Given the description of an element on the screen output the (x, y) to click on. 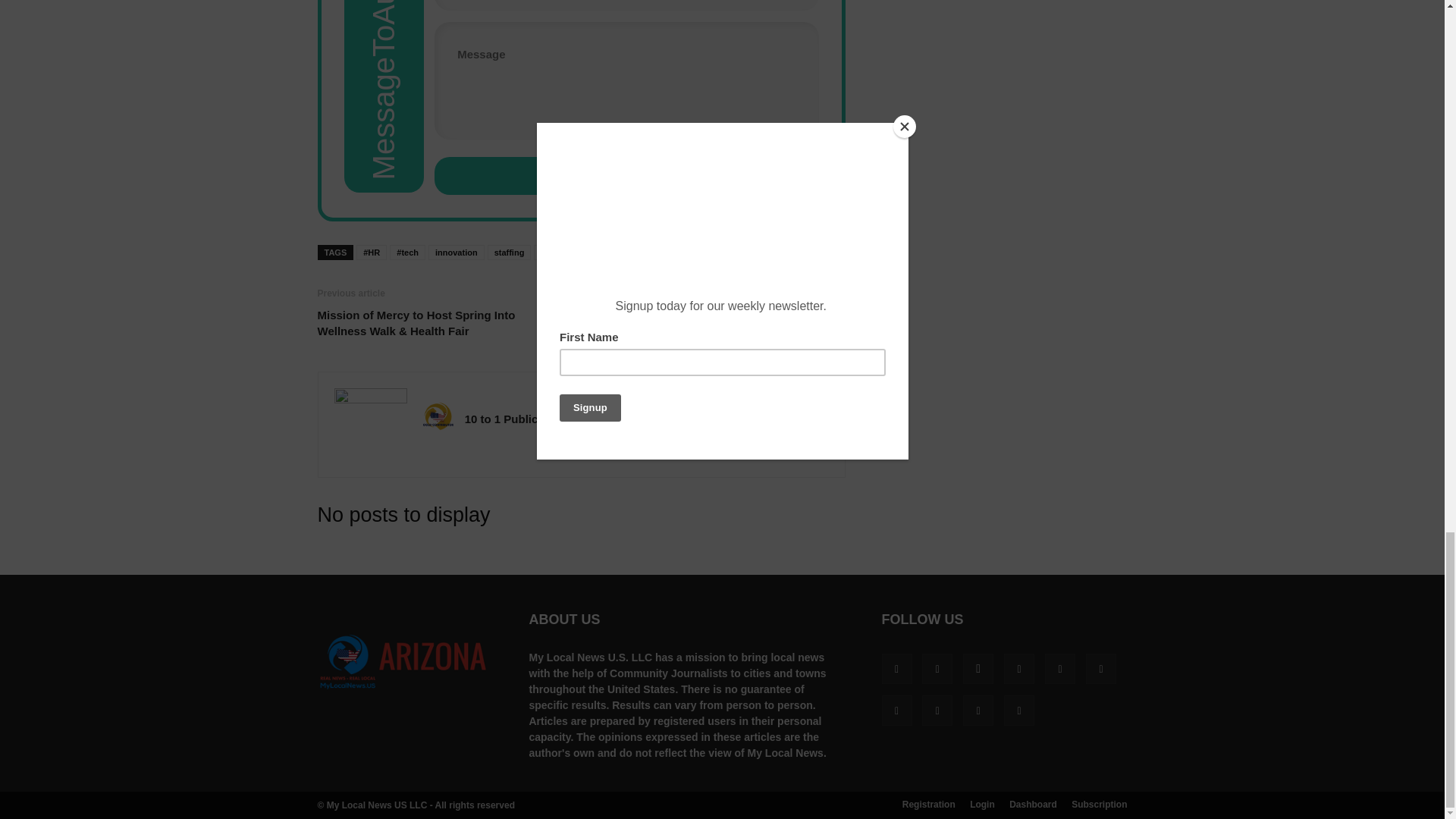
Submit (625, 175)
